Given the description of an element on the screen output the (x, y) to click on. 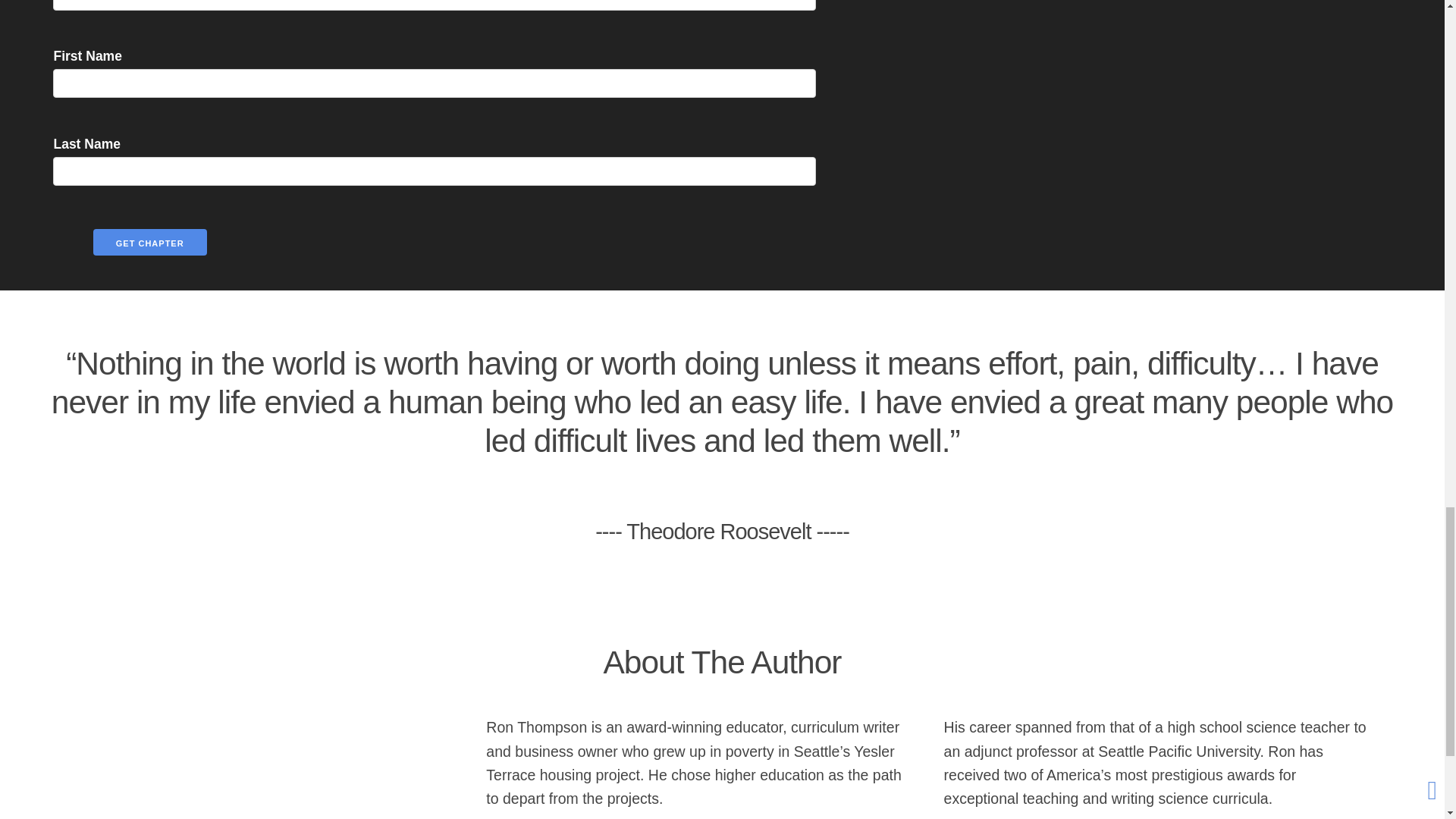
Get Chapter (149, 242)
Get Chapter (149, 242)
